Given the description of an element on the screen output the (x, y) to click on. 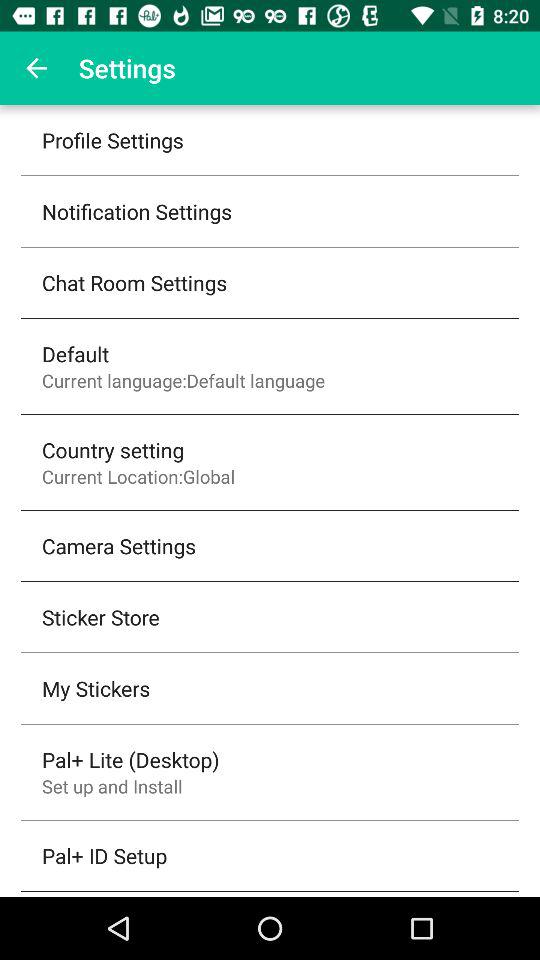
open the item above the current location:global icon (113, 449)
